Given the description of an element on the screen output the (x, y) to click on. 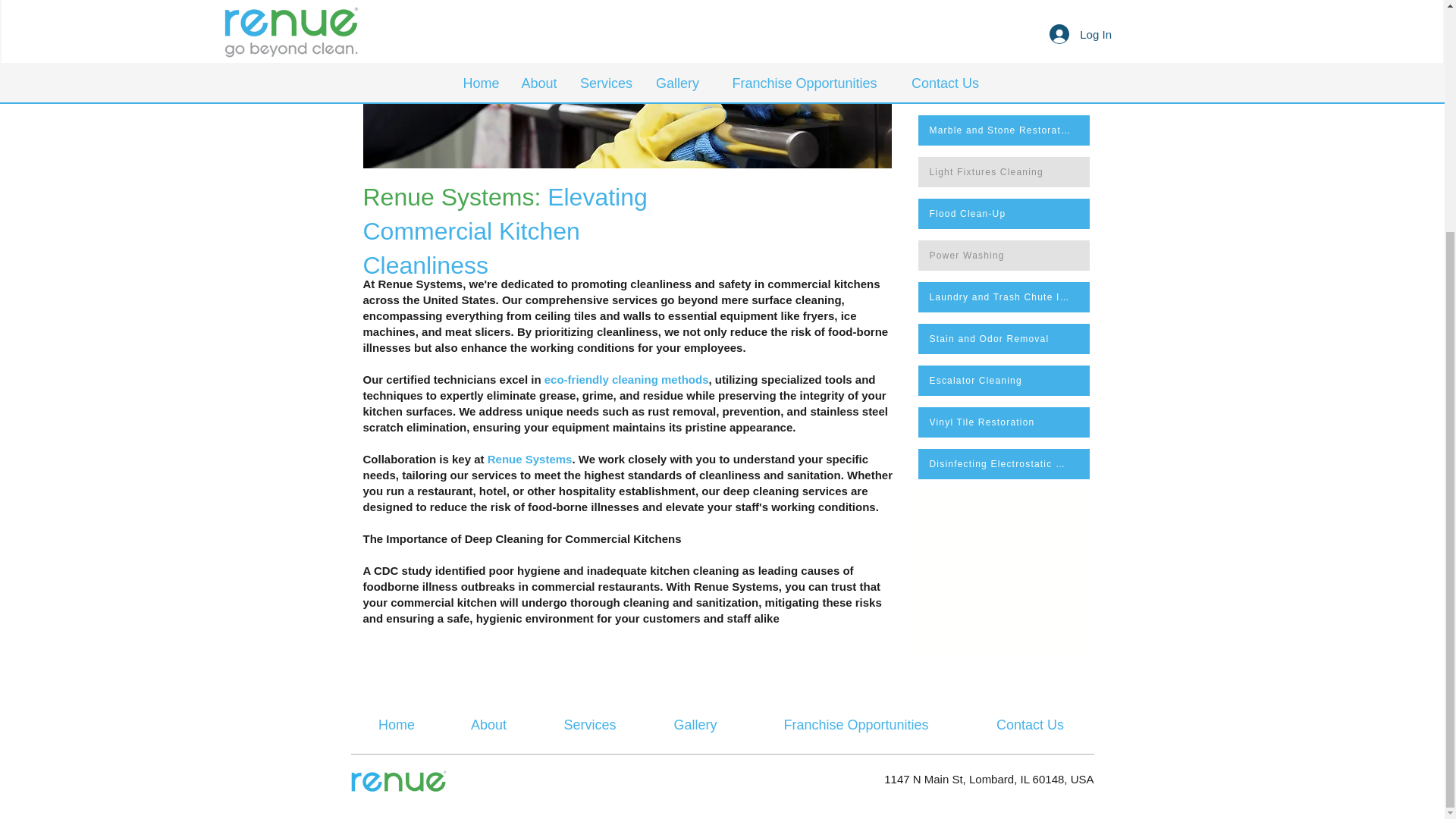
Disinfecting Electrostatic Spraying (1003, 463)
Flood Clean-Up (1003, 214)
Light Fixtures Cleaning (1003, 172)
Kitchen Cleaning (1003, 88)
Home (396, 724)
Marble and Stone Restoration (1003, 130)
Vinyl Tile Restoration (1003, 422)
Carpet Cleaning (1003, 10)
About (488, 724)
Stain and Odor Removal (1003, 338)
